Given the description of an element on the screen output the (x, y) to click on. 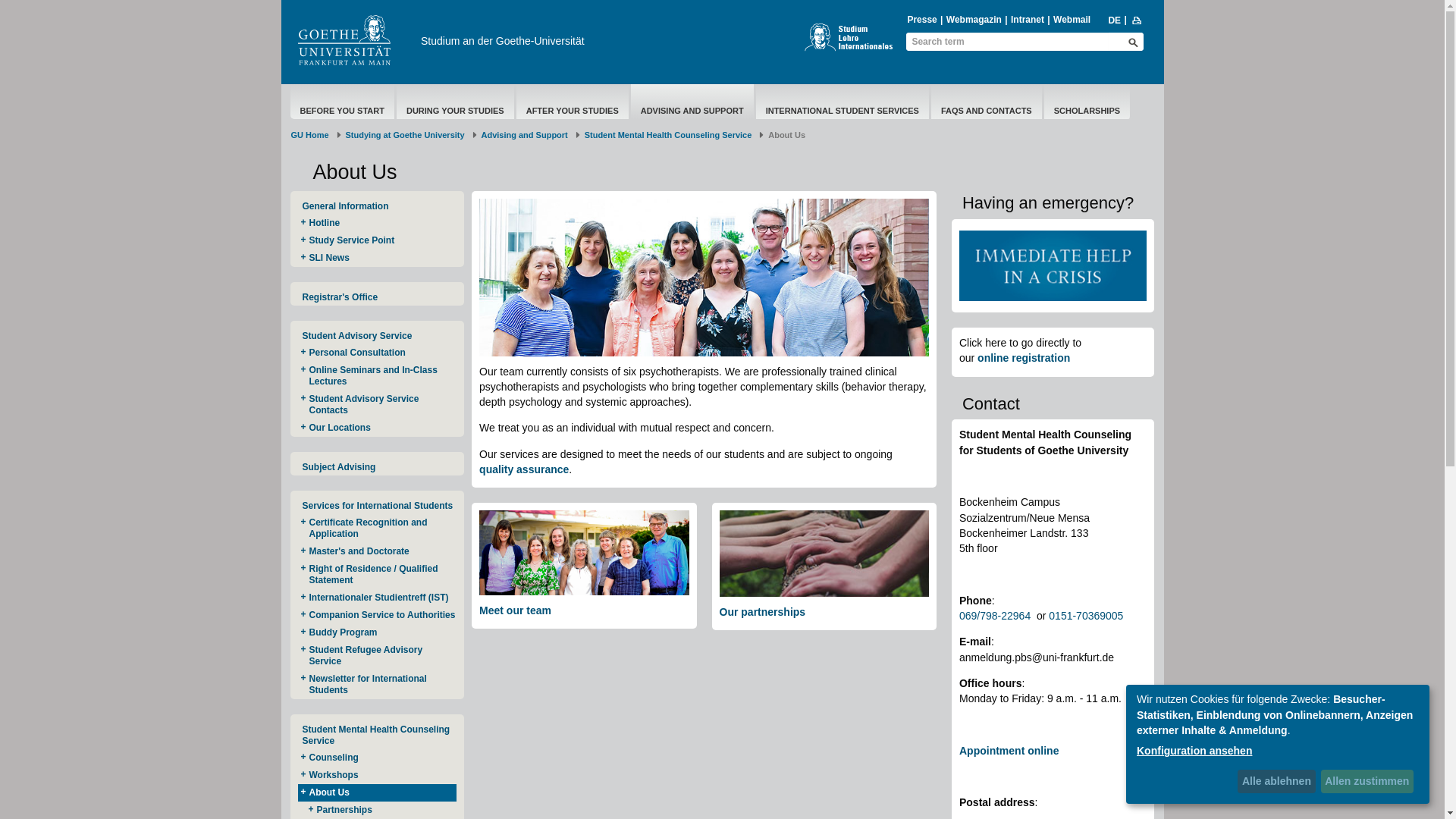
BEFORE YOU START (342, 110)
zur deutschen Seite (1113, 20)
SCHOLARSHIPS (1087, 110)
Start Search (1132, 42)
Studying at Goethe University (405, 134)
Student Mental Health Counseling Service (668, 134)
Hotline (377, 222)
DE (1113, 20)
GU Home (310, 134)
AFTER YOUR STUDIES (571, 110)
Webmail (1071, 19)
print page (1136, 20)
Webmagazin (973, 19)
Presse (921, 19)
General Information (377, 206)
